Given the description of an element on the screen output the (x, y) to click on. 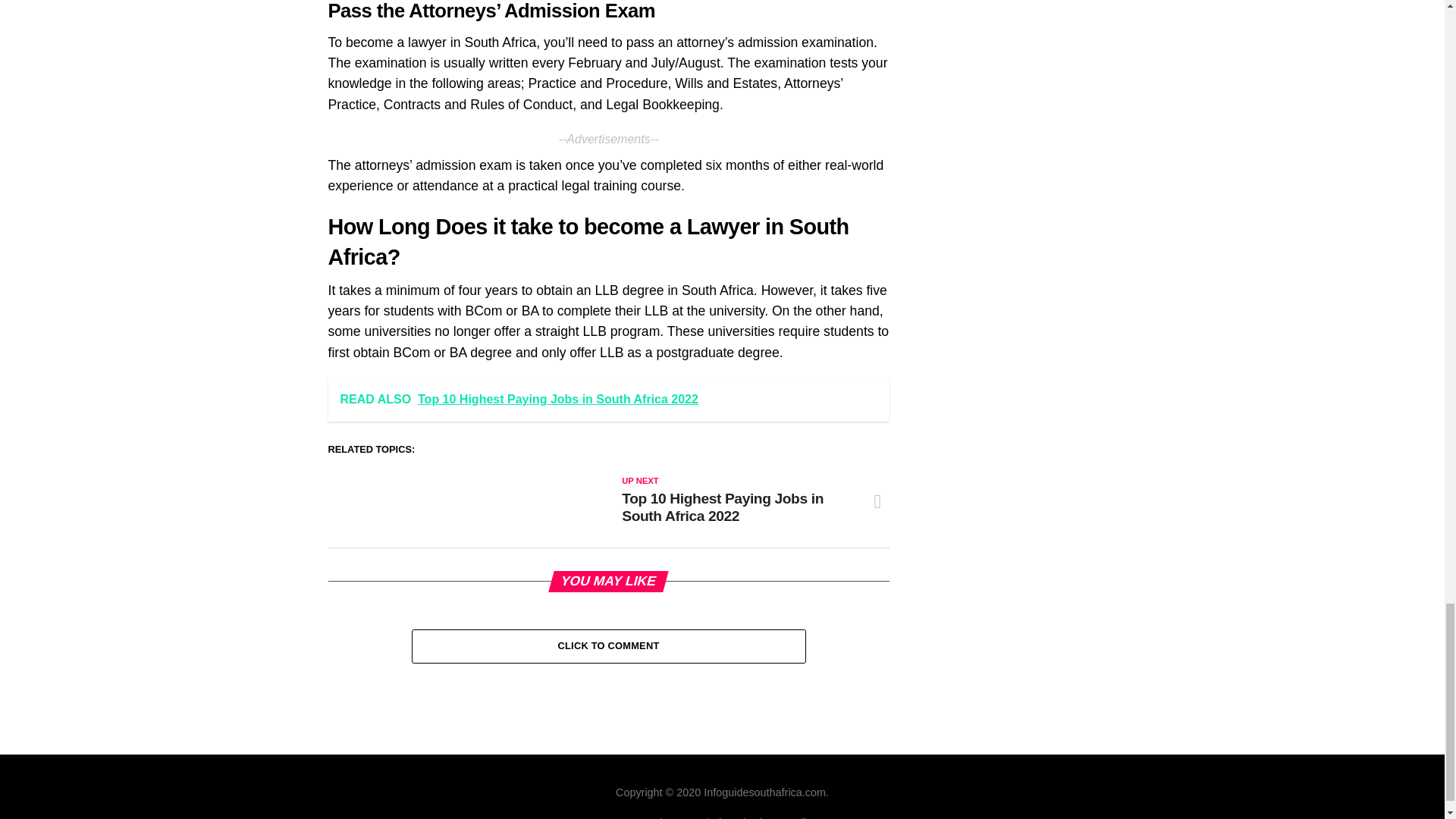
READ ALSO  Top 10 Highest Paying Jobs in South Africa 2022 (607, 399)
